Given the description of an element on the screen output the (x, y) to click on. 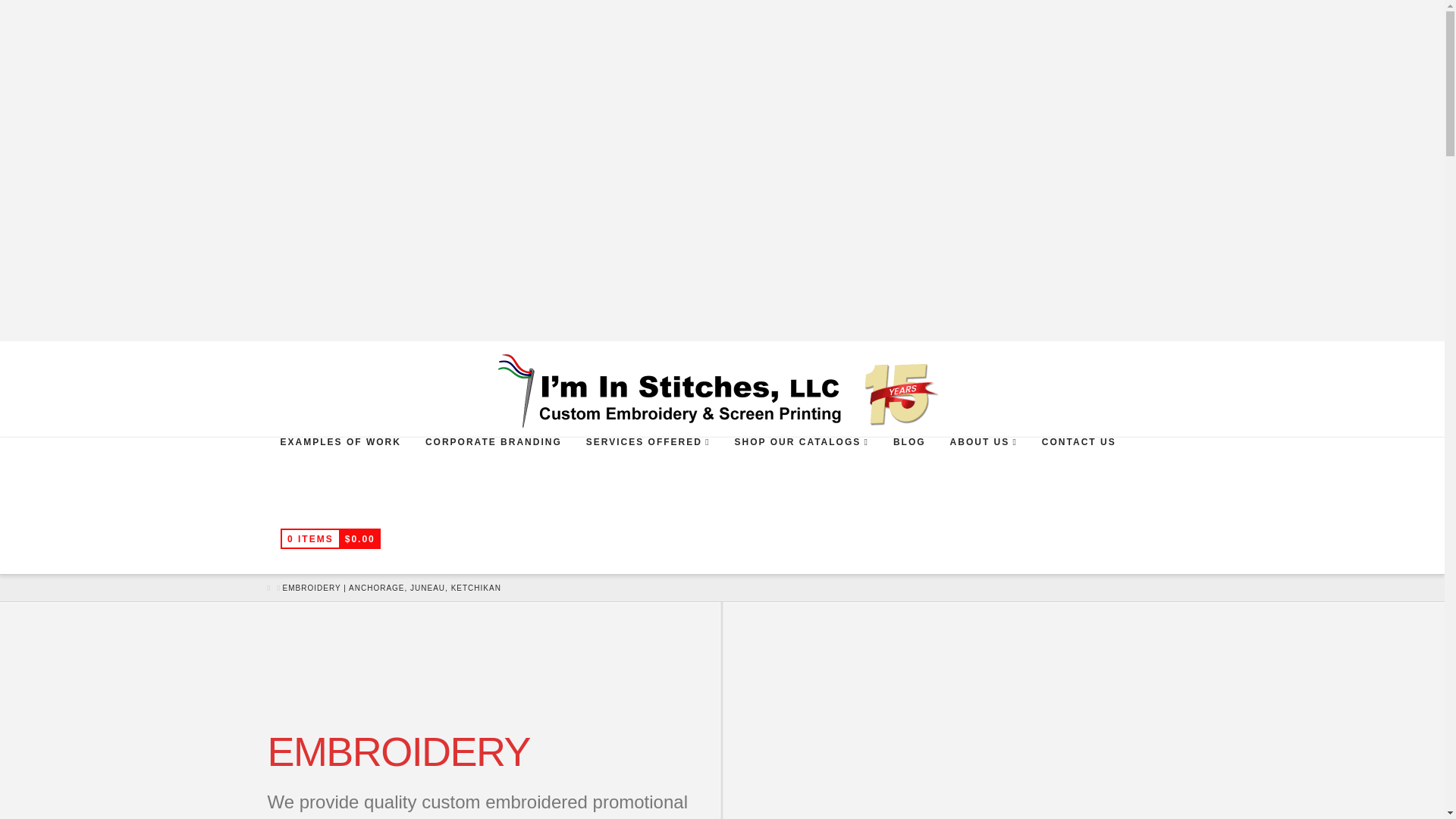
Examples of Work (339, 471)
EXAMPLES OF WORK (339, 471)
You Are Here (391, 587)
ABOUT US (983, 471)
CORPORATE BRANDING (492, 471)
SHOP OUR CATALOGS (801, 471)
SERVICES OFFERED (647, 471)
